Given the description of an element on the screen output the (x, y) to click on. 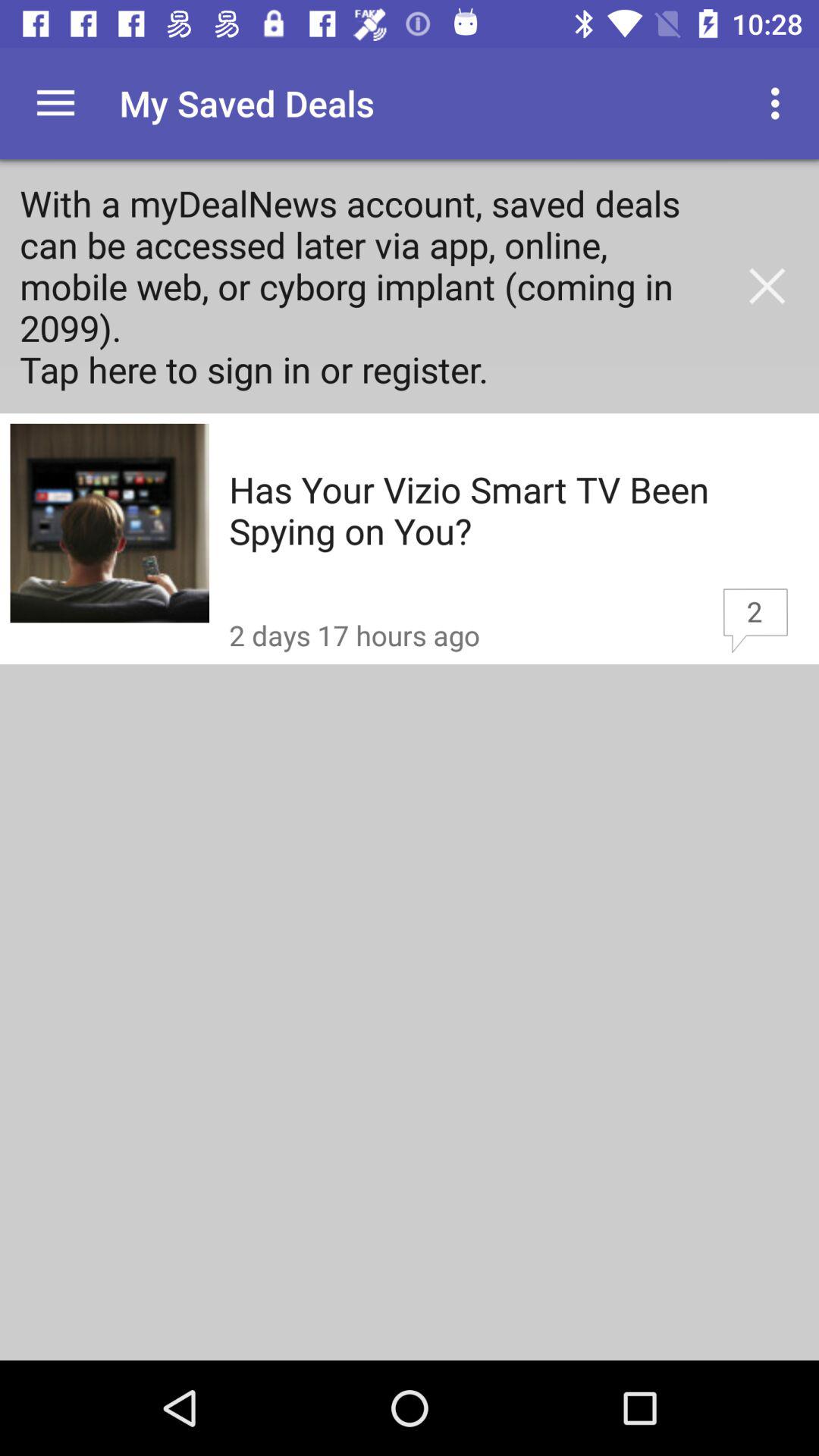
launch the icon above the has your vizio icon (767, 285)
